Given the description of an element on the screen output the (x, y) to click on. 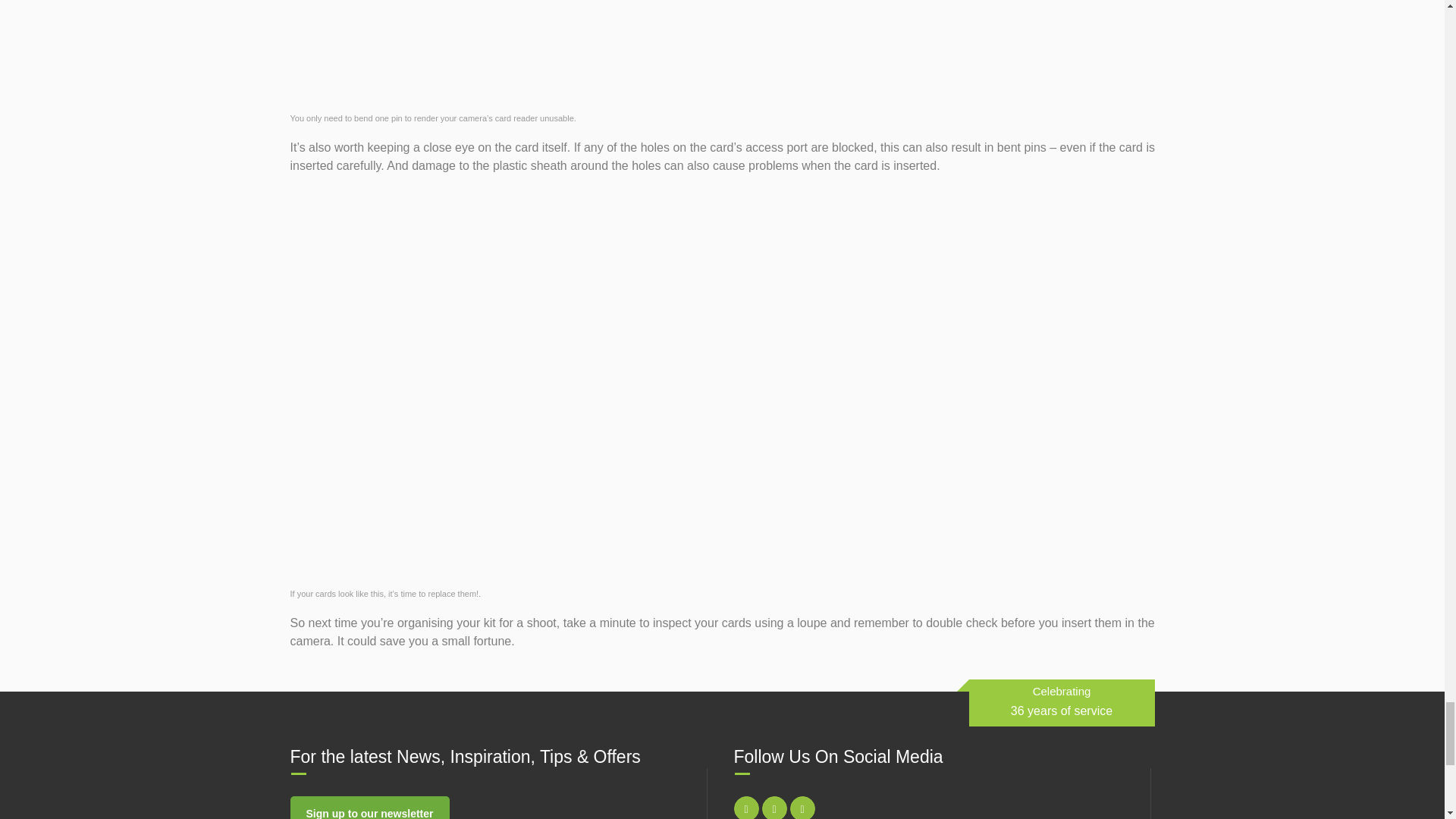
Sign up to our newsletter (368, 807)
